Given the description of an element on the screen output the (x, y) to click on. 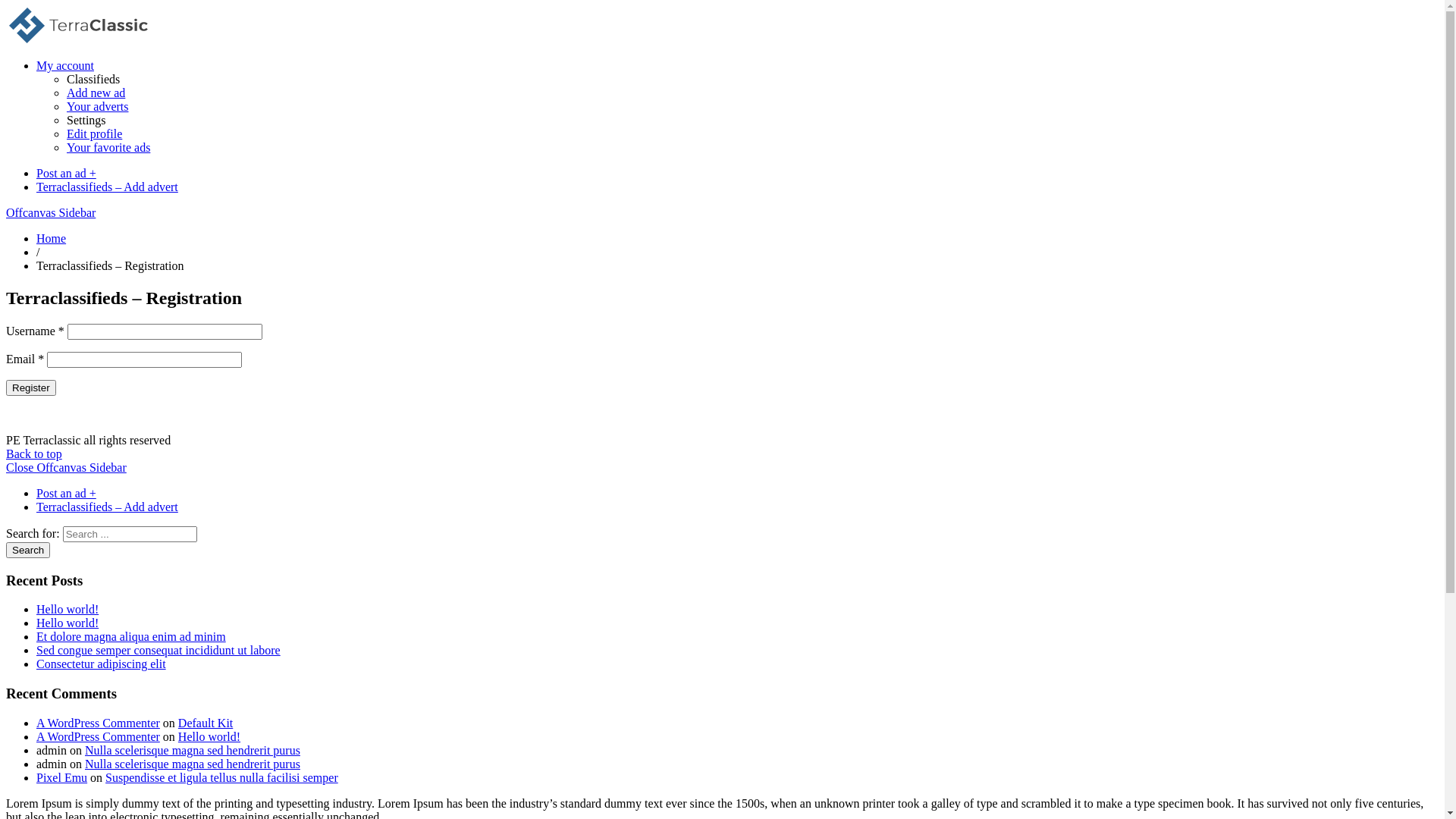
A WordPress Commenter Element type: text (98, 722)
Hello world! Element type: text (67, 608)
Edit profile Element type: text (94, 133)
Register Element type: text (31, 387)
Add new ad Element type: text (95, 92)
Search Element type: text (28, 550)
CLassified Ads Element type: hover (83, 39)
Nulla scelerisque magna sed hendrerit purus Element type: text (192, 763)
Post an ad + Element type: text (66, 492)
Default Kit Element type: text (205, 722)
Suspendisse et ligula tellus nulla facilisi semper Element type: text (221, 777)
Offcanvas Sidebar Element type: text (50, 212)
Back to top Element type: text (34, 453)
Hello world! Element type: text (209, 736)
A WordPress Commenter Element type: text (98, 736)
Your adverts Element type: text (97, 106)
Nulla scelerisque magna sed hendrerit purus Element type: text (192, 749)
Hello world! Element type: text (67, 622)
Consectetur adipiscing elit Element type: text (101, 663)
Home Element type: text (50, 238)
Your favorite ads Element type: text (108, 147)
Et dolore magna aliqua enim ad minim Element type: text (130, 636)
Close Offcanvas Sidebar Element type: text (66, 467)
Post an ad + Element type: text (66, 172)
My account Element type: text (65, 65)
Pixel Emu Element type: text (61, 777)
Sed congue semper consequat incididunt ut labore Element type: text (158, 649)
